Given the description of an element on the screen output the (x, y) to click on. 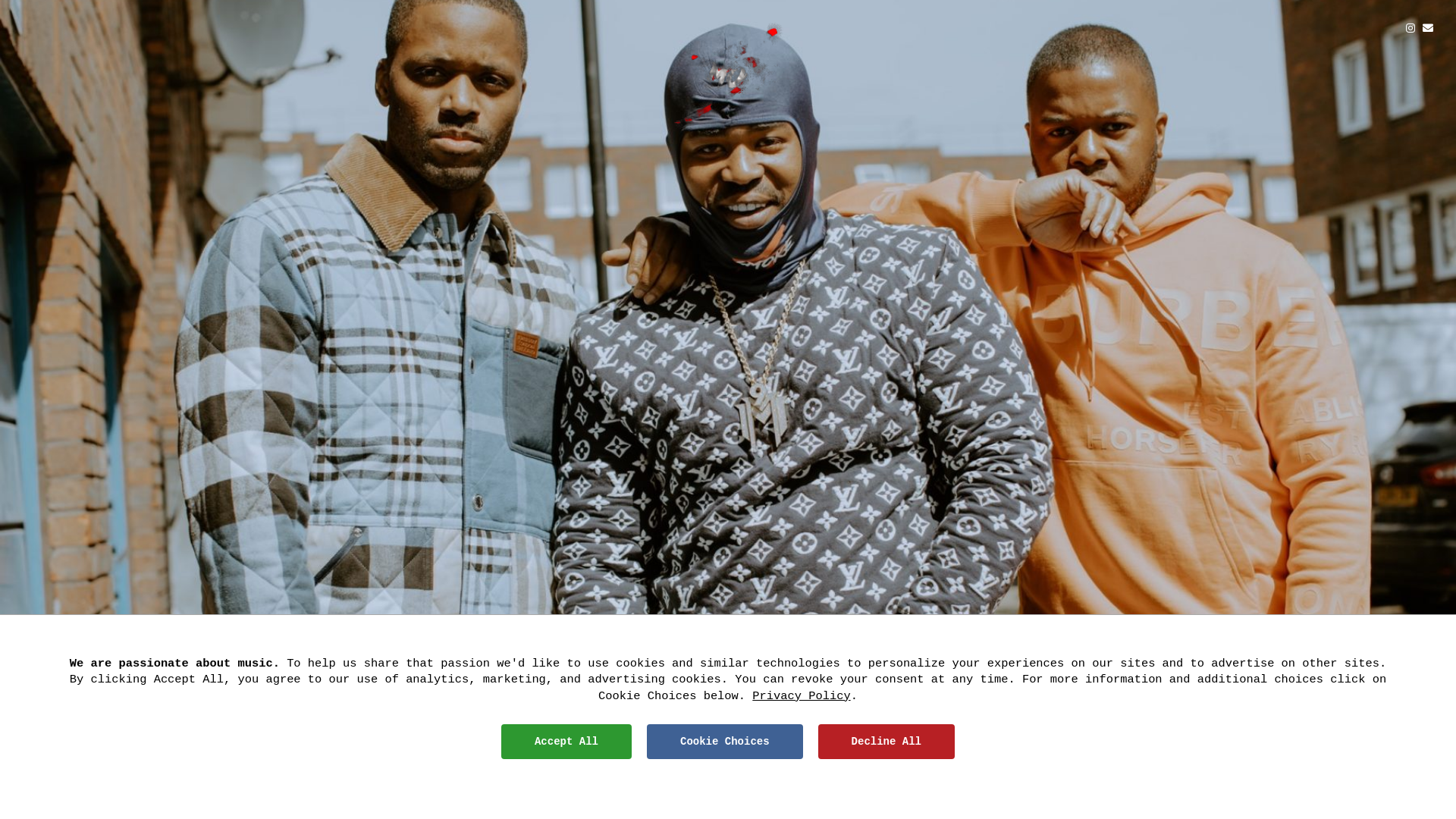
COOKIES Element type: text (807, 806)
WATCH Element type: text (571, 769)
SIGN UP Element type: text (884, 769)
SAFE SURF Element type: text (857, 806)
TERMS OF USE Element type: text (704, 806)
Decline All Element type: text (886, 741)
LISTEN Element type: text (728, 769)
Accept All Element type: text (566, 741)
Cookie Choices Element type: text (724, 741)
PRIVACY Element type: text (762, 806)
Privacy Policy Element type: text (801, 695)
